Given the description of an element on the screen output the (x, y) to click on. 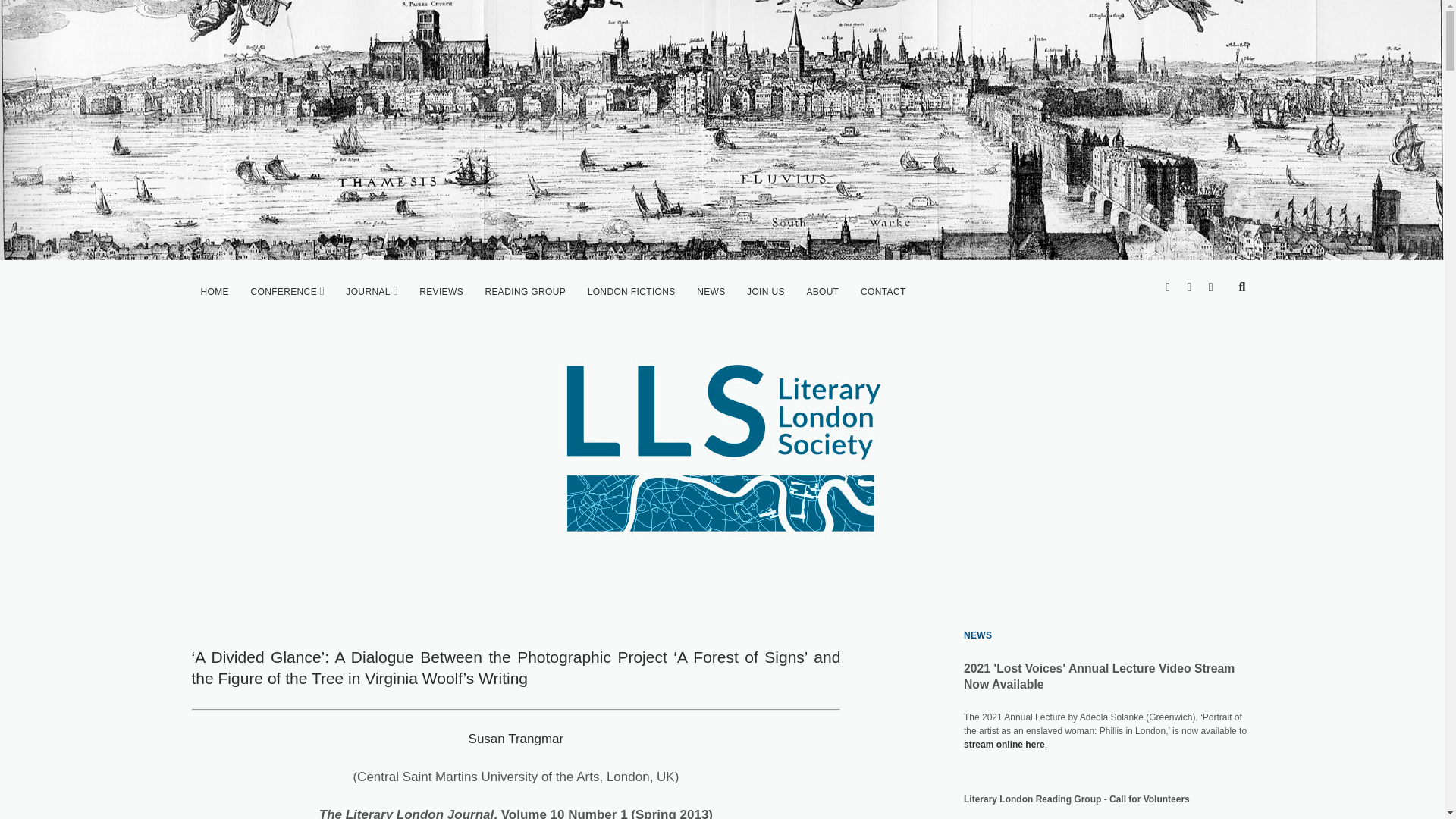
JOURNAL (367, 291)
REVIEWS (440, 291)
CONTACT (883, 291)
HOME (213, 291)
LONDON FICTIONS (631, 291)
CONFERENCE (283, 291)
NEWS (710, 291)
READING GROUP (525, 291)
JOIN US (765, 291)
ABOUT (821, 291)
